Given the description of an element on the screen output the (x, y) to click on. 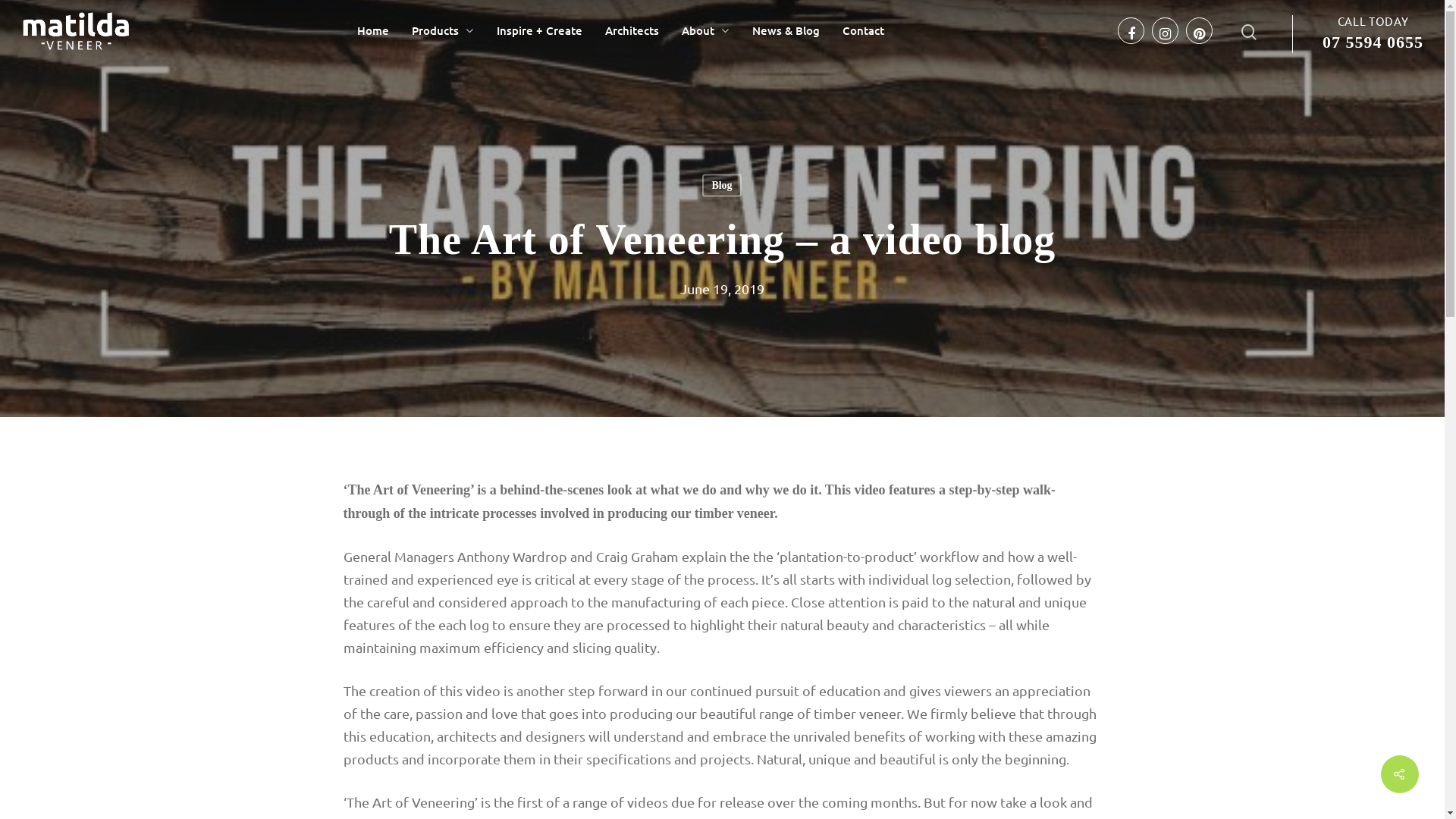
Home Element type: text (373, 29)
Inspire + Create Element type: text (539, 29)
Contact Element type: text (863, 29)
News & Blog Element type: text (785, 29)
07 5594 0655 Element type: text (1372, 41)
Architects Element type: text (631, 29)
Products Element type: text (442, 29)
About Element type: text (705, 29)
Blog Element type: text (721, 185)
